Given the description of an element on the screen output the (x, y) to click on. 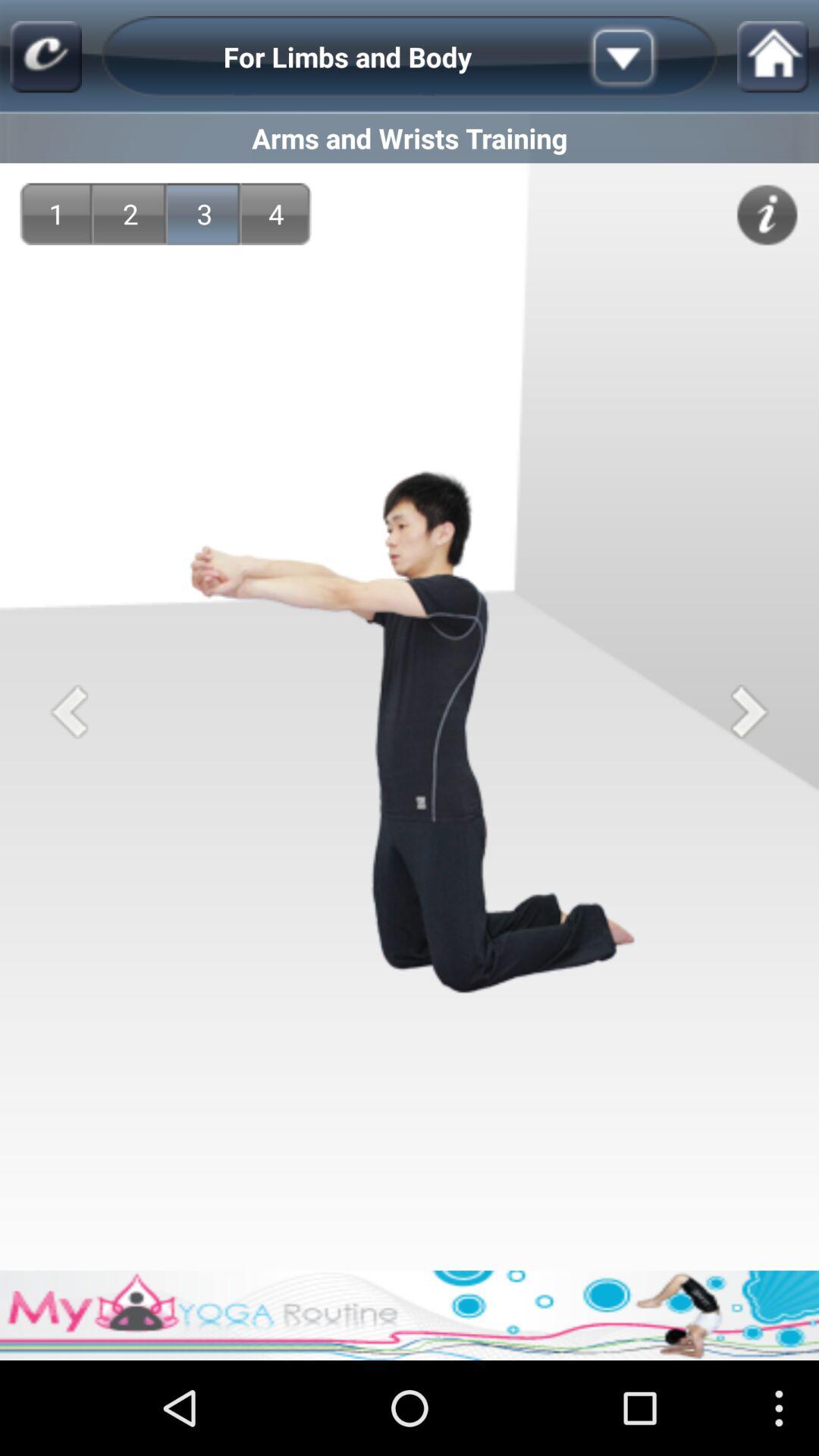
previous step (68, 711)
